Given the description of an element on the screen output the (x, y) to click on. 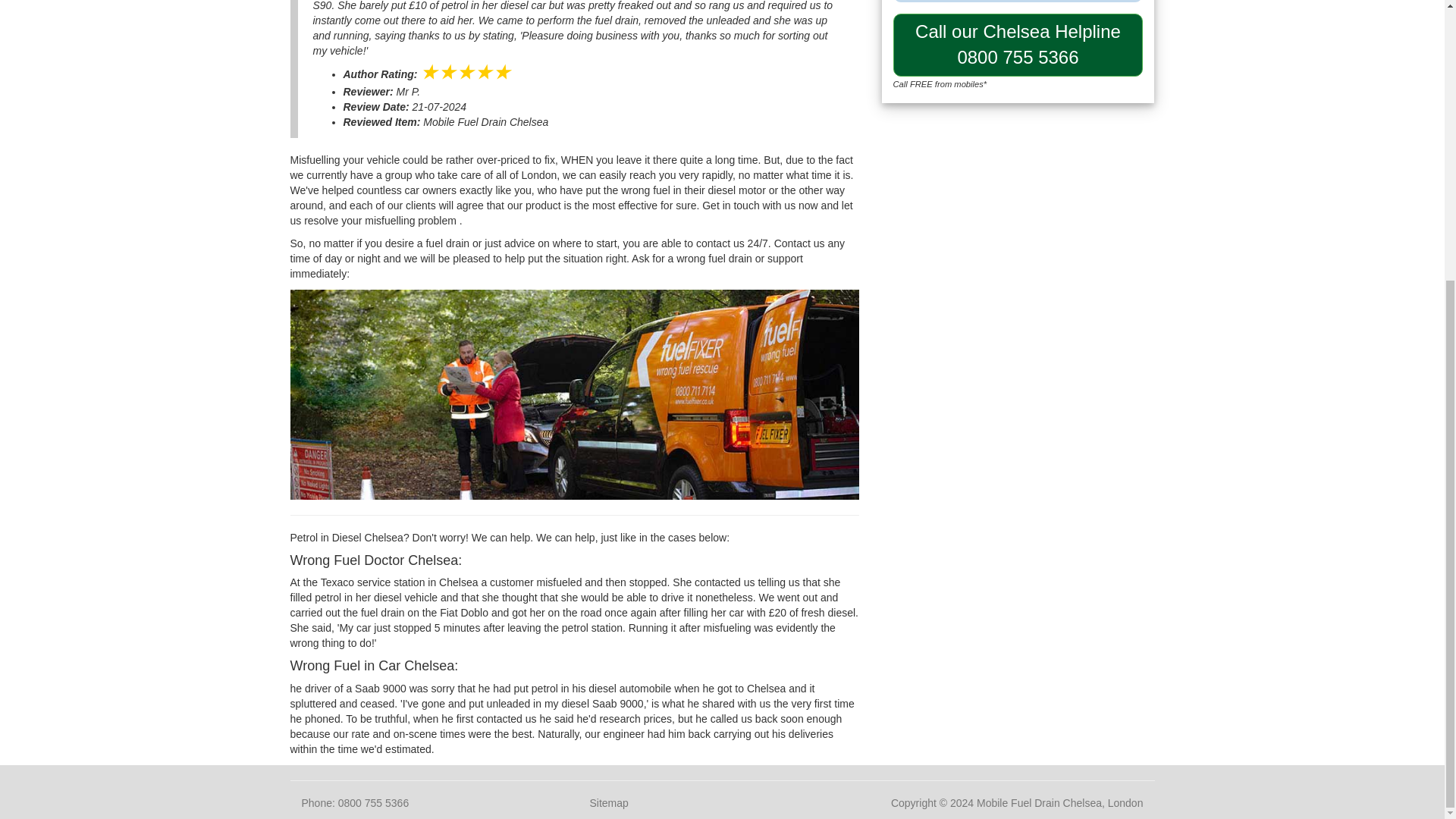
Sitemap (608, 802)
Phone: 0800 755 5366 (355, 802)
